Given the description of an element on the screen output the (x, y) to click on. 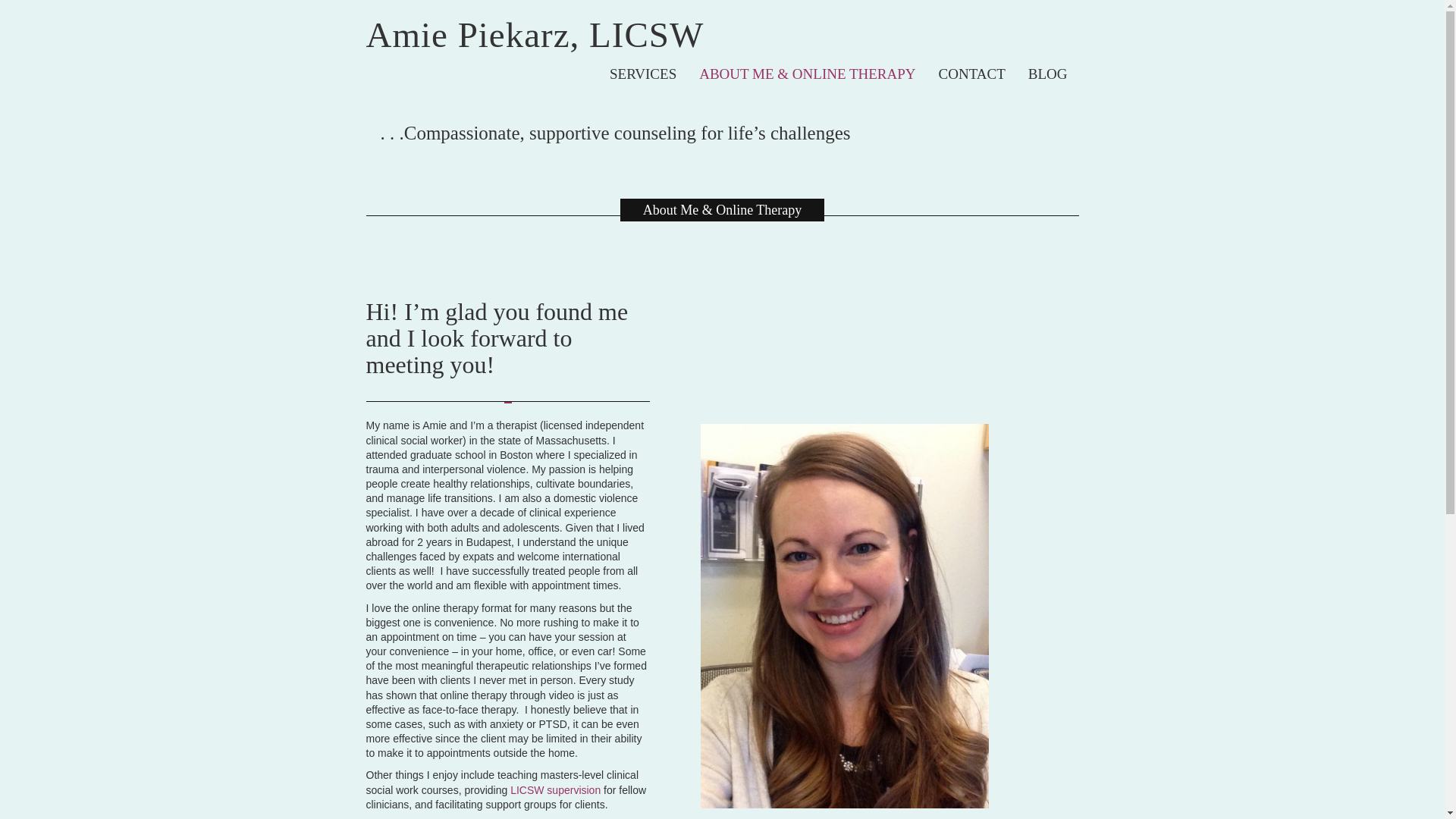
LICSW supervision (555, 789)
CONTACT (971, 73)
BLOG (1047, 73)
Amie Piekarz, LICSW (534, 34)
SERVICES (642, 73)
